Given the description of an element on the screen output the (x, y) to click on. 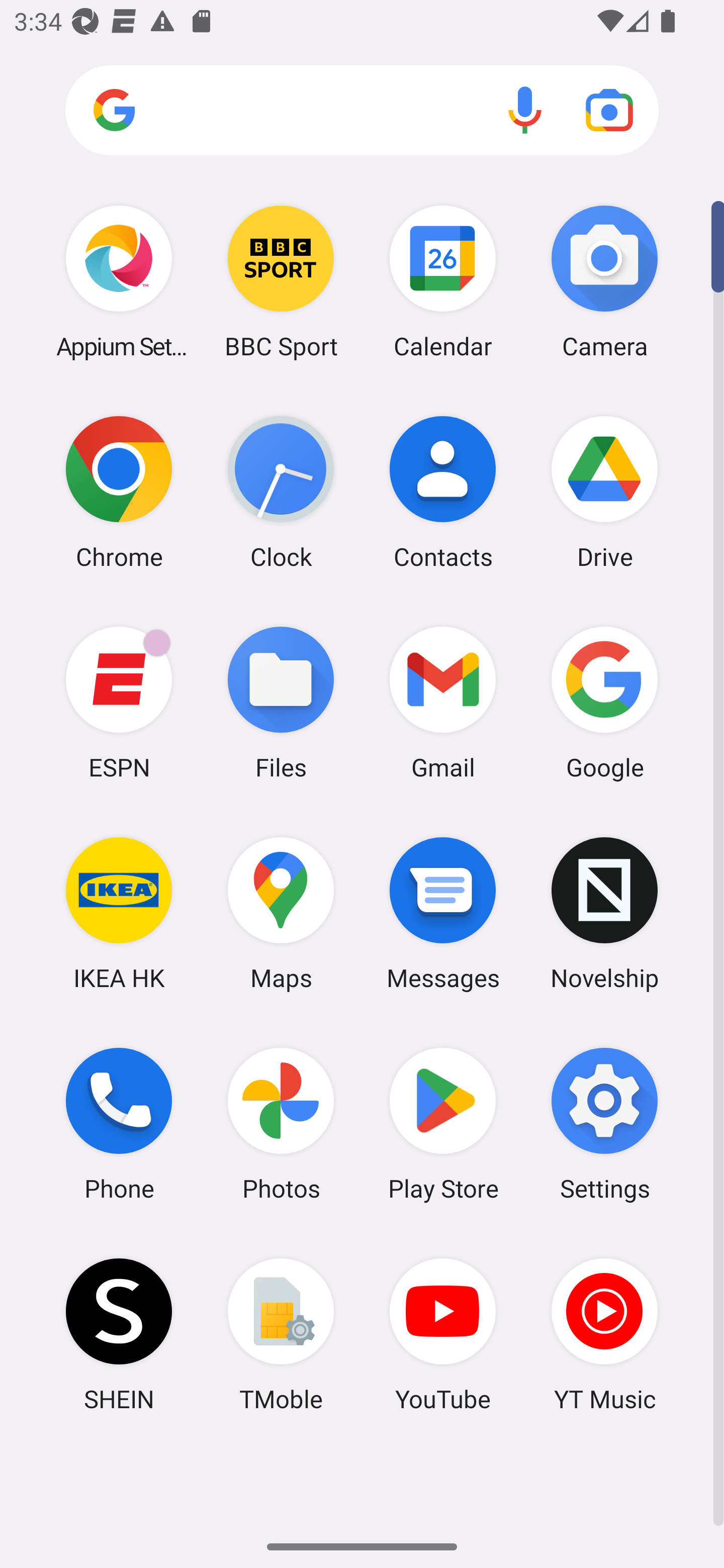
Search apps, web and more (361, 110)
Voice search (524, 109)
Google Lens (608, 109)
Appium Settings (118, 281)
BBC Sport (280, 281)
Calendar (443, 281)
Camera (604, 281)
Chrome (118, 492)
Clock (280, 492)
Contacts (443, 492)
Drive (604, 492)
ESPN ESPN has 3 notifications (118, 702)
Files (280, 702)
Gmail (443, 702)
Google (604, 702)
IKEA HK (118, 913)
Maps (280, 913)
Messages (443, 913)
Novelship (604, 913)
Phone (118, 1124)
Photos (280, 1124)
Play Store (443, 1124)
Settings (604, 1124)
SHEIN (118, 1334)
TMoble (280, 1334)
YouTube (443, 1334)
YT Music (604, 1334)
